Given the description of an element on the screen output the (x, y) to click on. 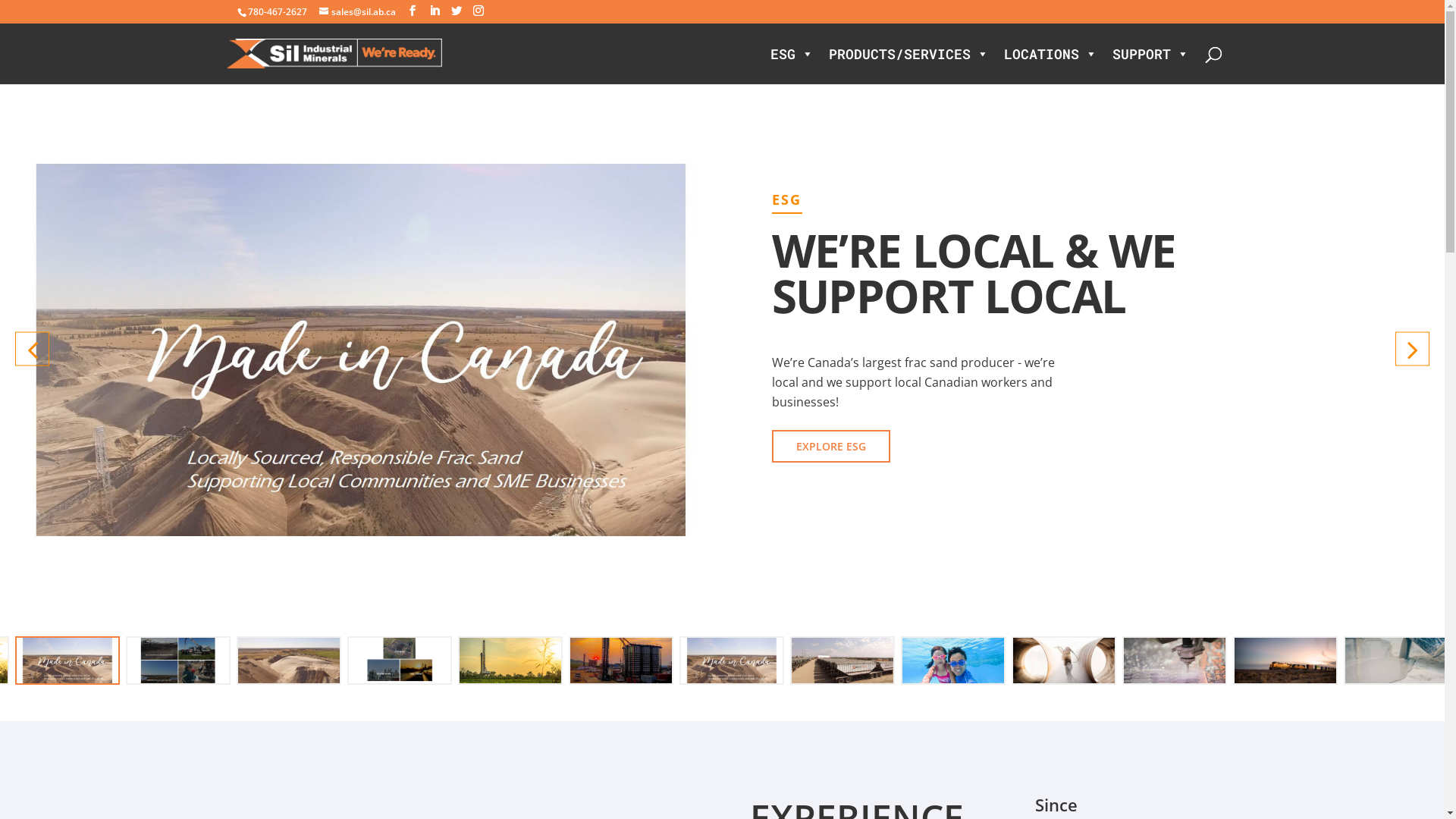
Next Element type: text (1412, 349)
ESG Element type: text (791, 53)
sales@sil.ab.ca Element type: text (356, 11)
LOCATIONS Element type: text (1050, 53)
PRODUCTS/SERVICES Element type: text (907, 53)
Previous Element type: text (32, 349)
SUPPORT Element type: text (1149, 53)
